Given the description of an element on the screen output the (x, y) to click on. 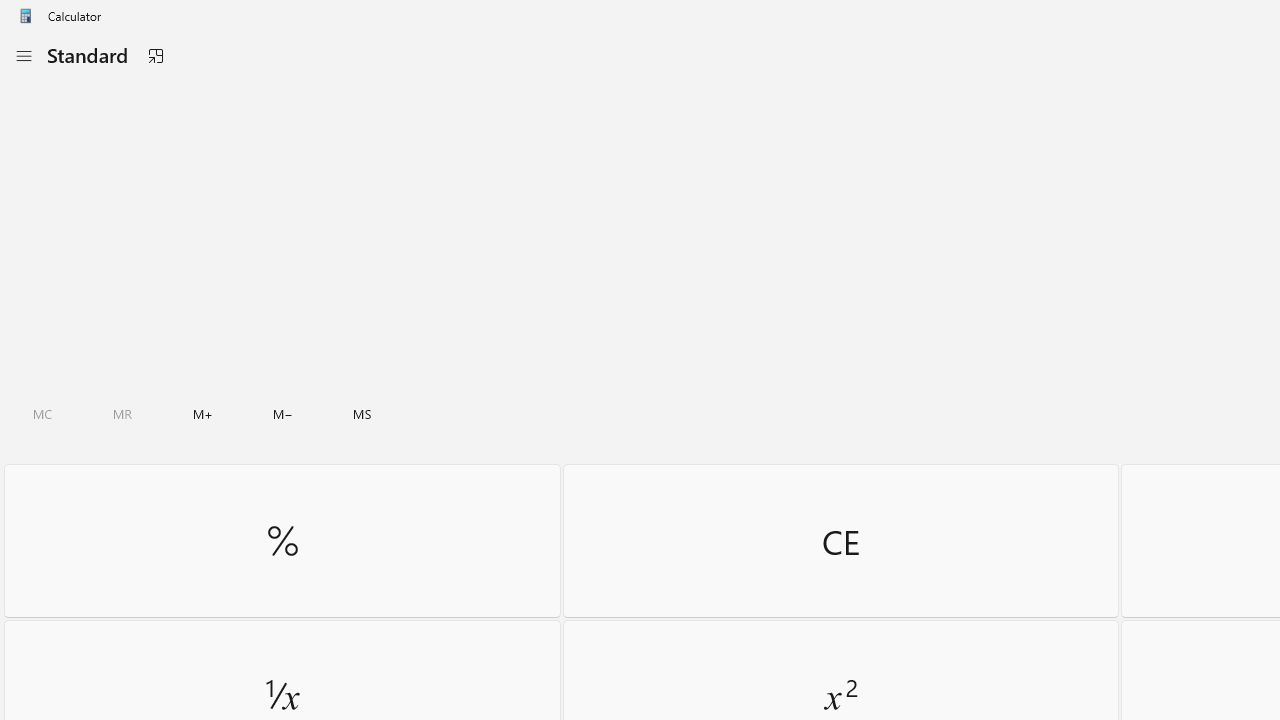
Percent (281, 540)
Open Navigation (23, 56)
Clear entry (840, 540)
Memory subtract (283, 414)
Clear all memory (42, 414)
Memory recall (123, 414)
Memory store (362, 414)
Keep on top (155, 56)
Memory add (202, 414)
